Given the description of an element on the screen output the (x, y) to click on. 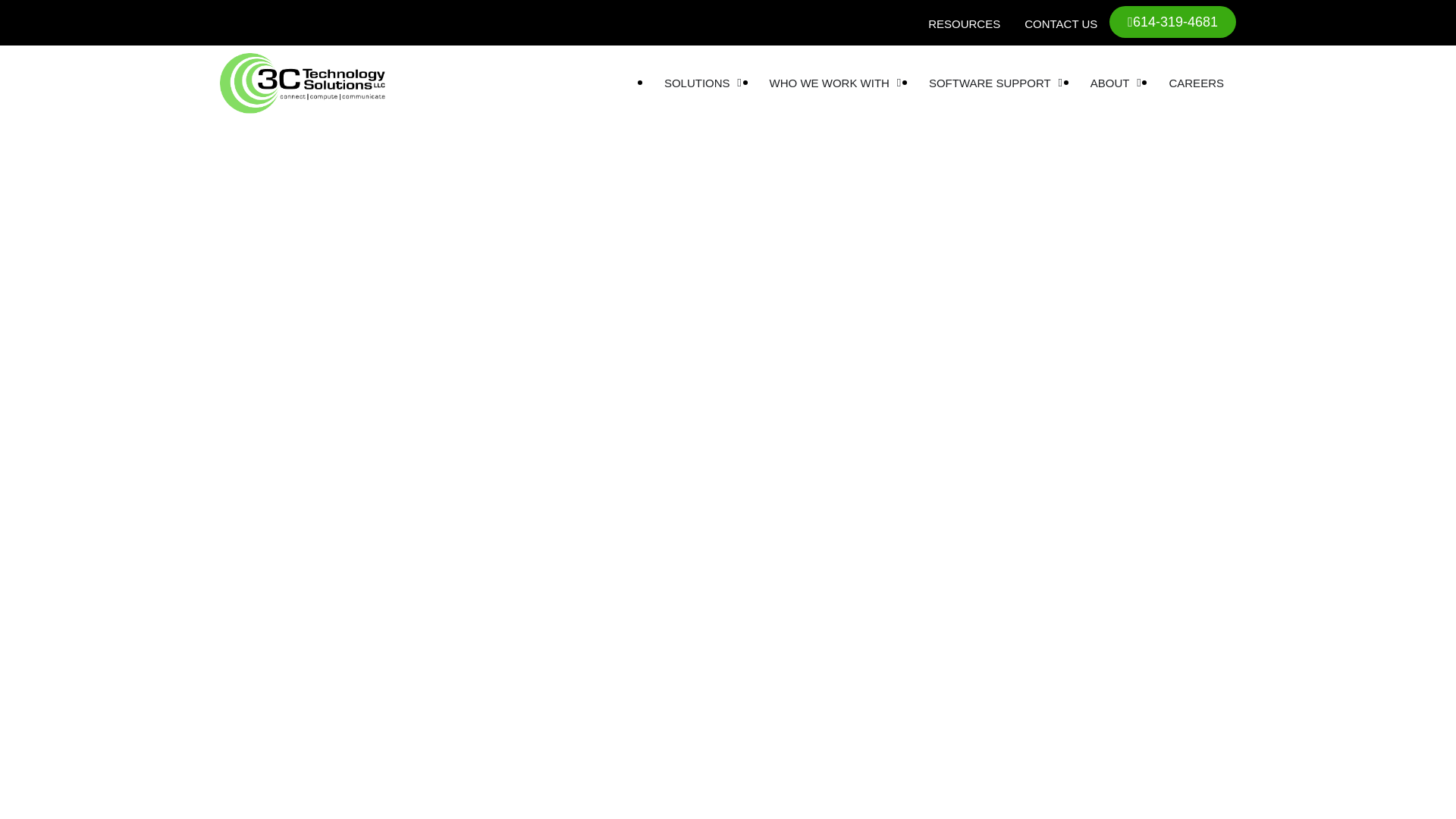
614-319-4681 (1172, 21)
SOLUTIONS (696, 83)
ABOUT (1109, 83)
CONTACT US (1061, 24)
RESOURCES (964, 24)
CAREERS (1196, 83)
